Given the description of an element on the screen output the (x, y) to click on. 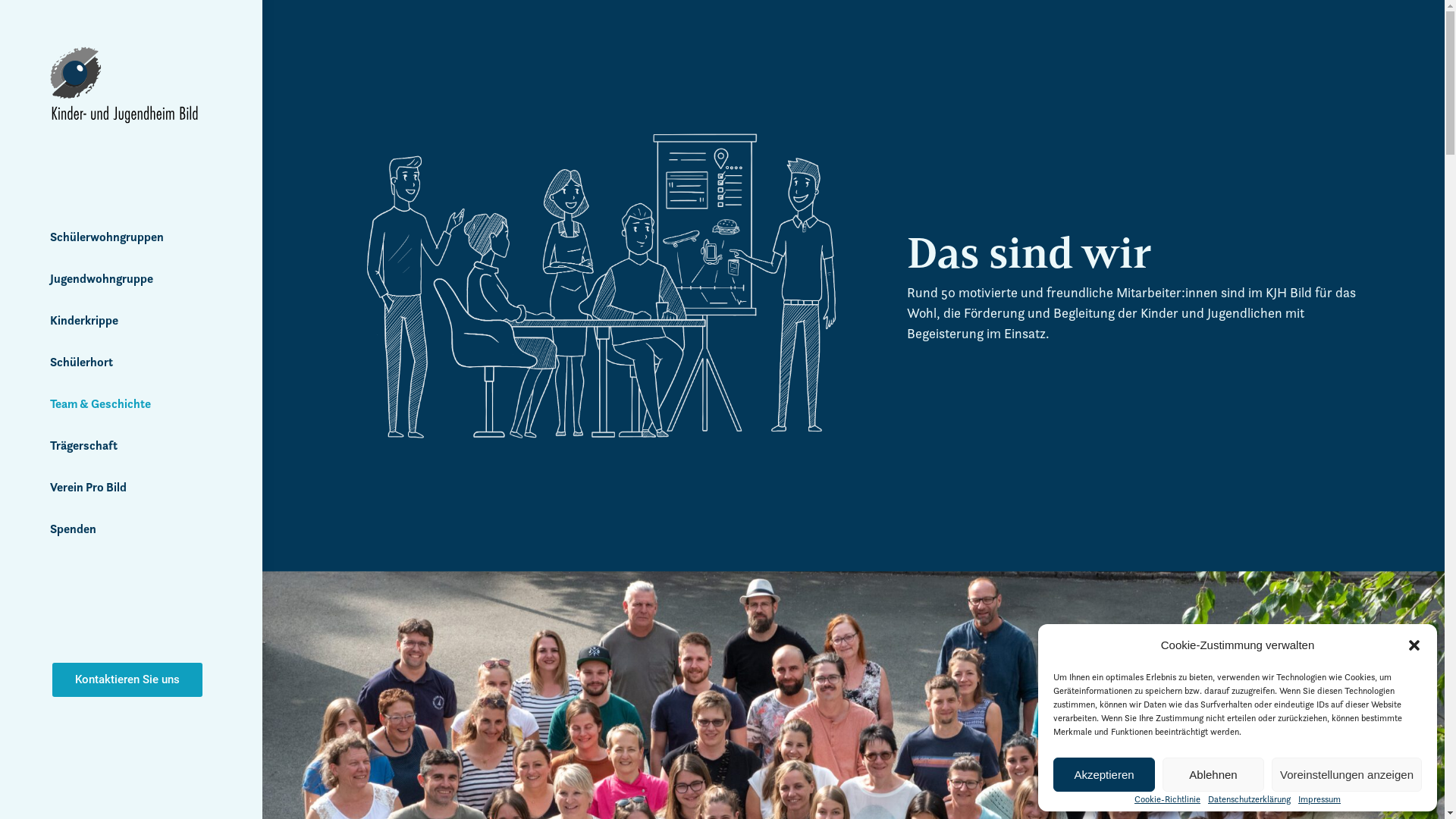
Akzeptieren Element type: text (1103, 774)
Kontaktieren Sie uns Element type: text (127, 679)
Jugendwohngruppe Element type: text (139, 278)
Team & Geschichte Element type: text (139, 403)
Kinderkrippe Element type: text (139, 320)
Verein Pro Bild Element type: text (139, 487)
Cookie-Richtlinie Element type: text (1167, 799)
Ablehnen Element type: text (1213, 774)
Impressum Element type: text (1319, 799)
Voreinstellungen anzeigen Element type: text (1346, 774)
Spenden Element type: text (139, 528)
